Given the description of an element on the screen output the (x, y) to click on. 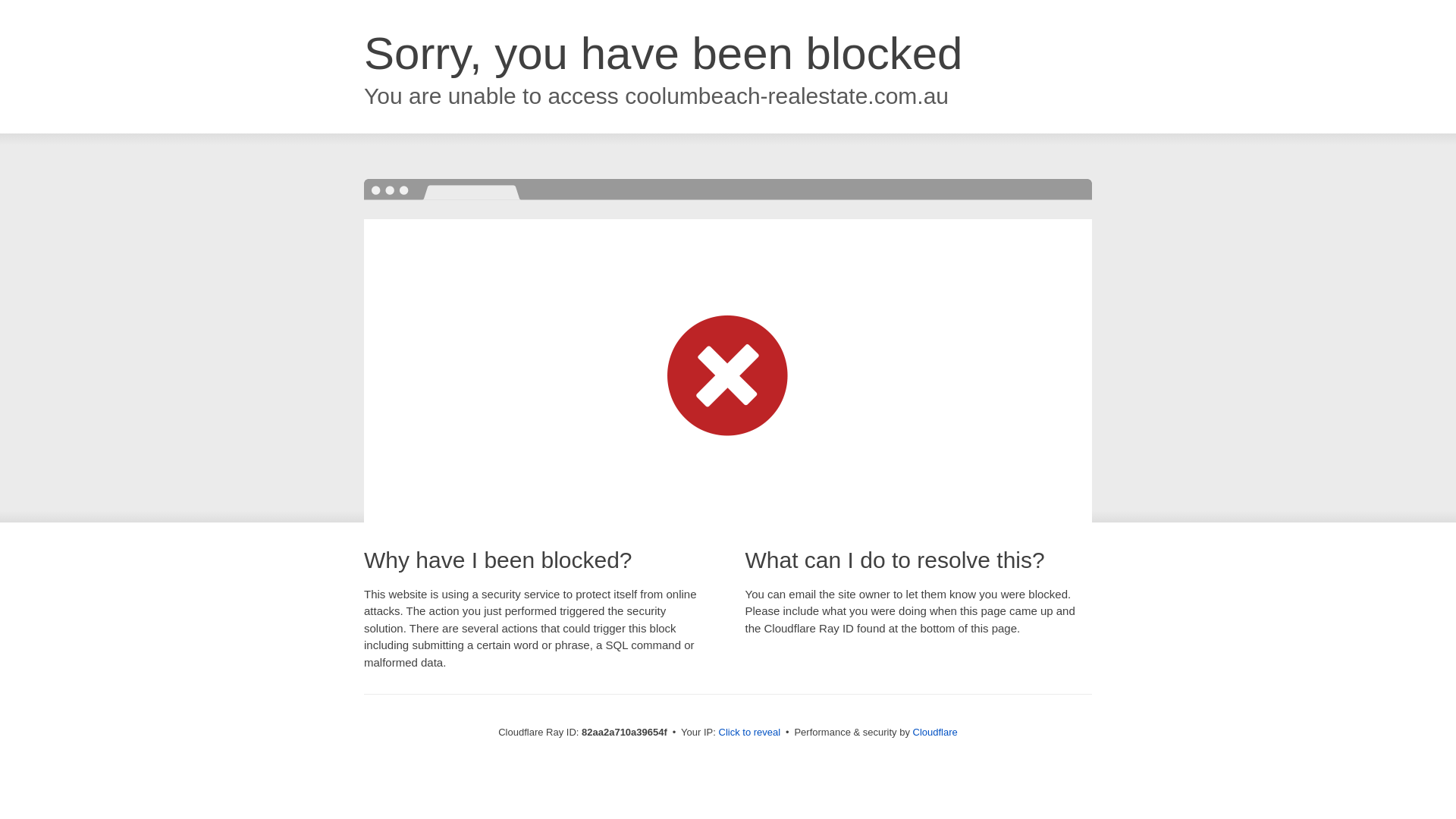
Click to reveal Element type: text (749, 732)
Cloudflare Element type: text (935, 731)
